Given the description of an element on the screen output the (x, y) to click on. 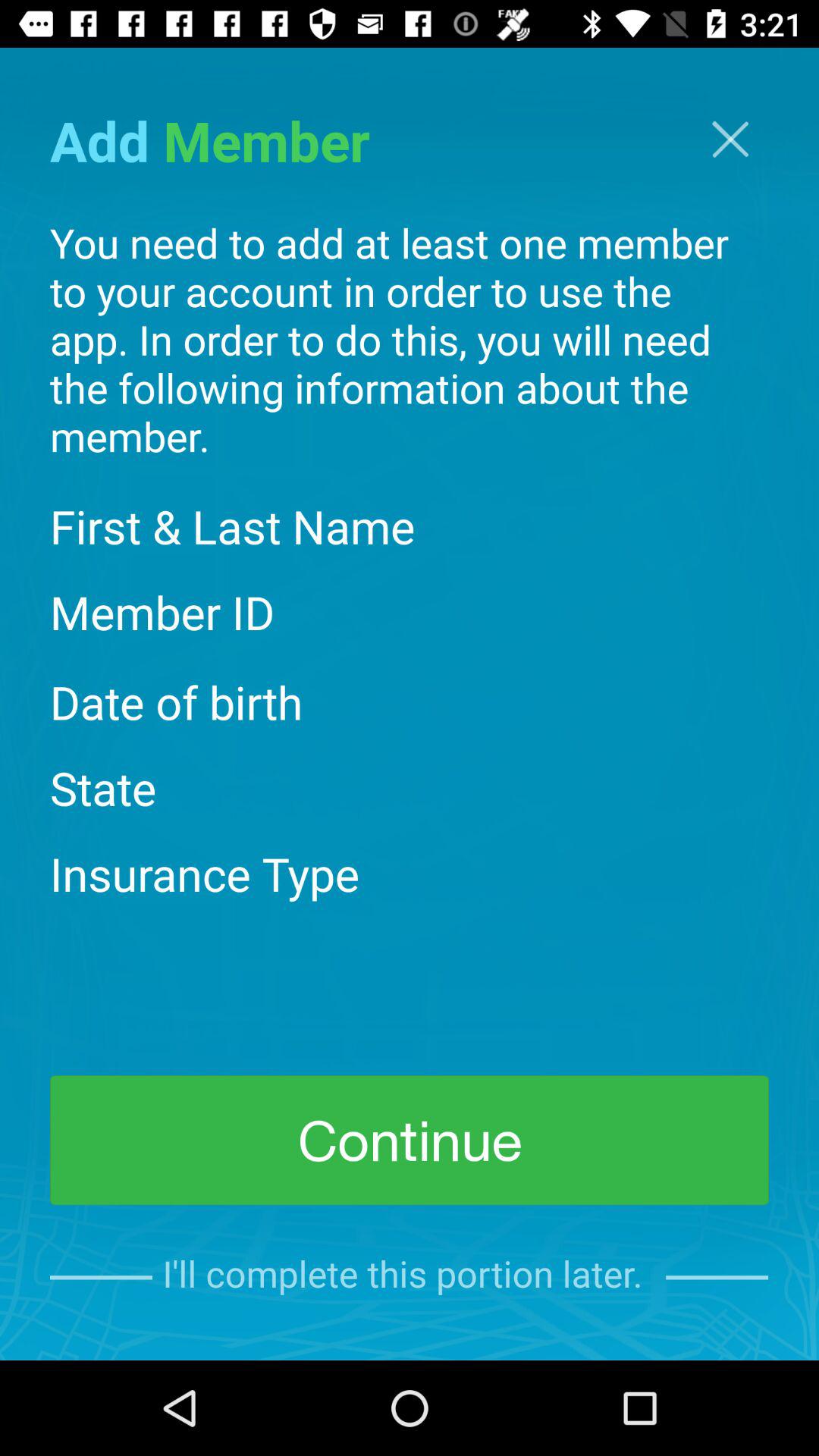
open icon next to add member item (730, 139)
